Given the description of an element on the screen output the (x, y) to click on. 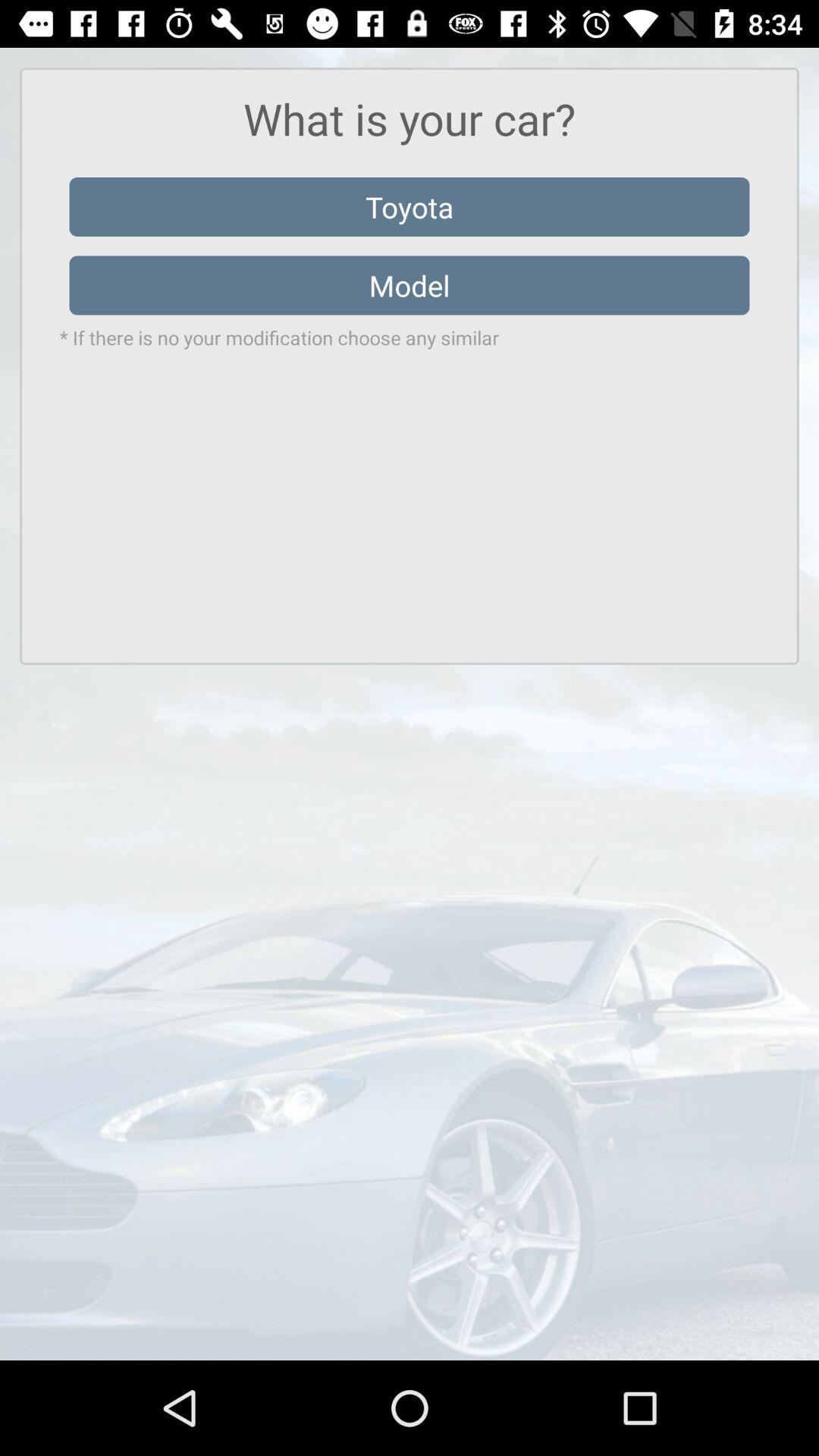
tap toyota (409, 206)
